Given the description of an element on the screen output the (x, y) to click on. 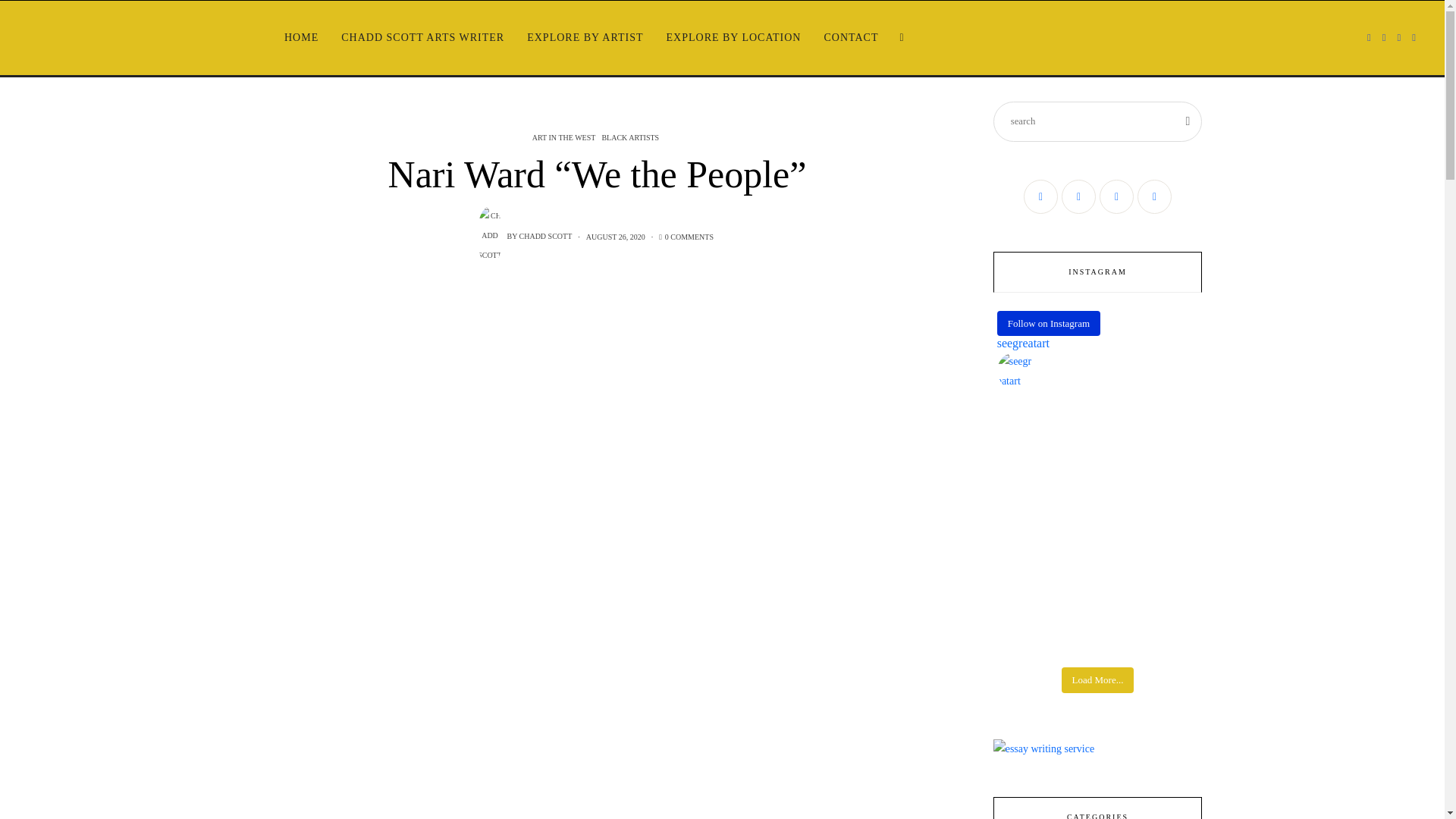
CHADD SCOTT ARTS WRITER (422, 37)
ART IN THE WEST (565, 137)
EXPLORE BY LOCATION (733, 37)
HOME (301, 37)
CONTACT (850, 37)
Posts by Chadd Scott (545, 236)
EXPLORE BY ARTIST (584, 37)
